Given the description of an element on the screen output the (x, y) to click on. 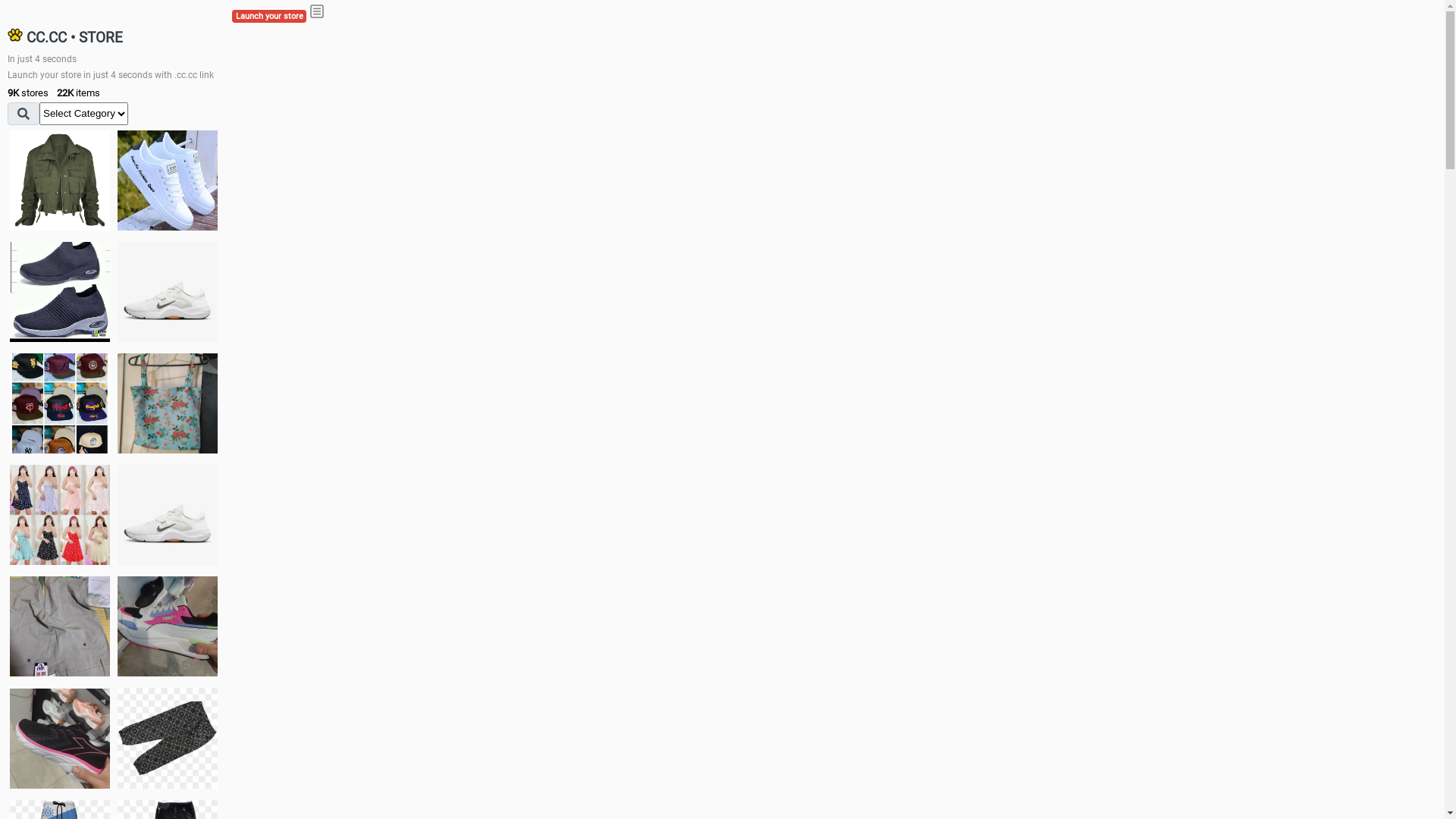
Shoes Element type: hover (167, 514)
Ukay cloth Element type: hover (167, 403)
Zapatillas pumas Element type: hover (167, 626)
shoes for boys Element type: hover (59, 291)
Things we need Element type: hover (59, 403)
Short pant Element type: hover (167, 737)
Zapatillas Element type: hover (59, 738)
jacket Element type: hover (59, 180)
Shoes for boys Element type: hover (167, 291)
Launch your store Element type: text (269, 15)
white shoes Element type: hover (167, 180)
Dress/square nect top Element type: hover (59, 514)
